Given the description of an element on the screen output the (x, y) to click on. 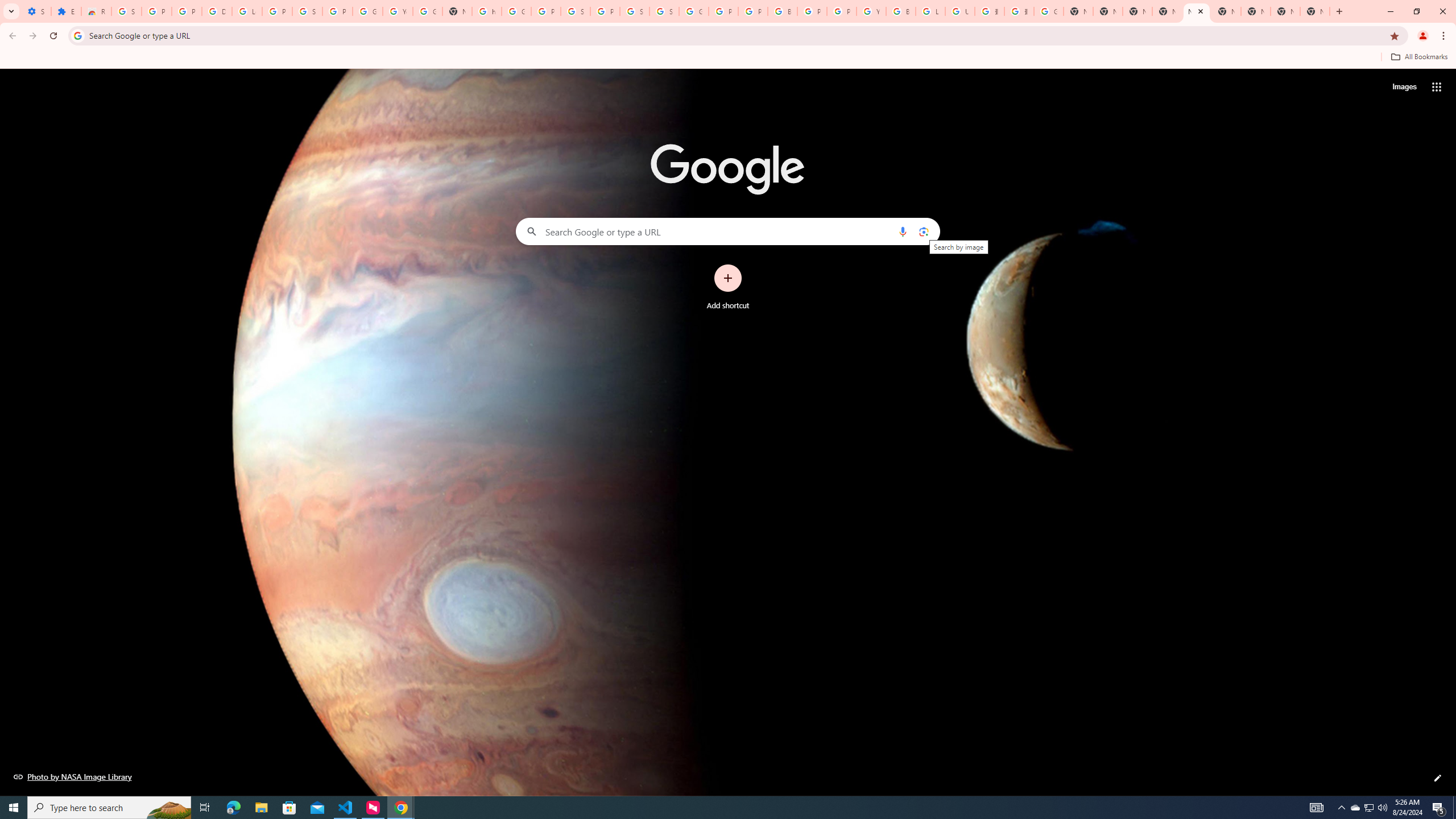
Sign in - Google Accounts (664, 11)
Search by voice (902, 230)
YouTube (397, 11)
Search for Images  (1403, 87)
Search by image (922, 230)
YouTube (871, 11)
New Tab (1166, 11)
Customize this page (1437, 778)
